Given the description of an element on the screen output the (x, y) to click on. 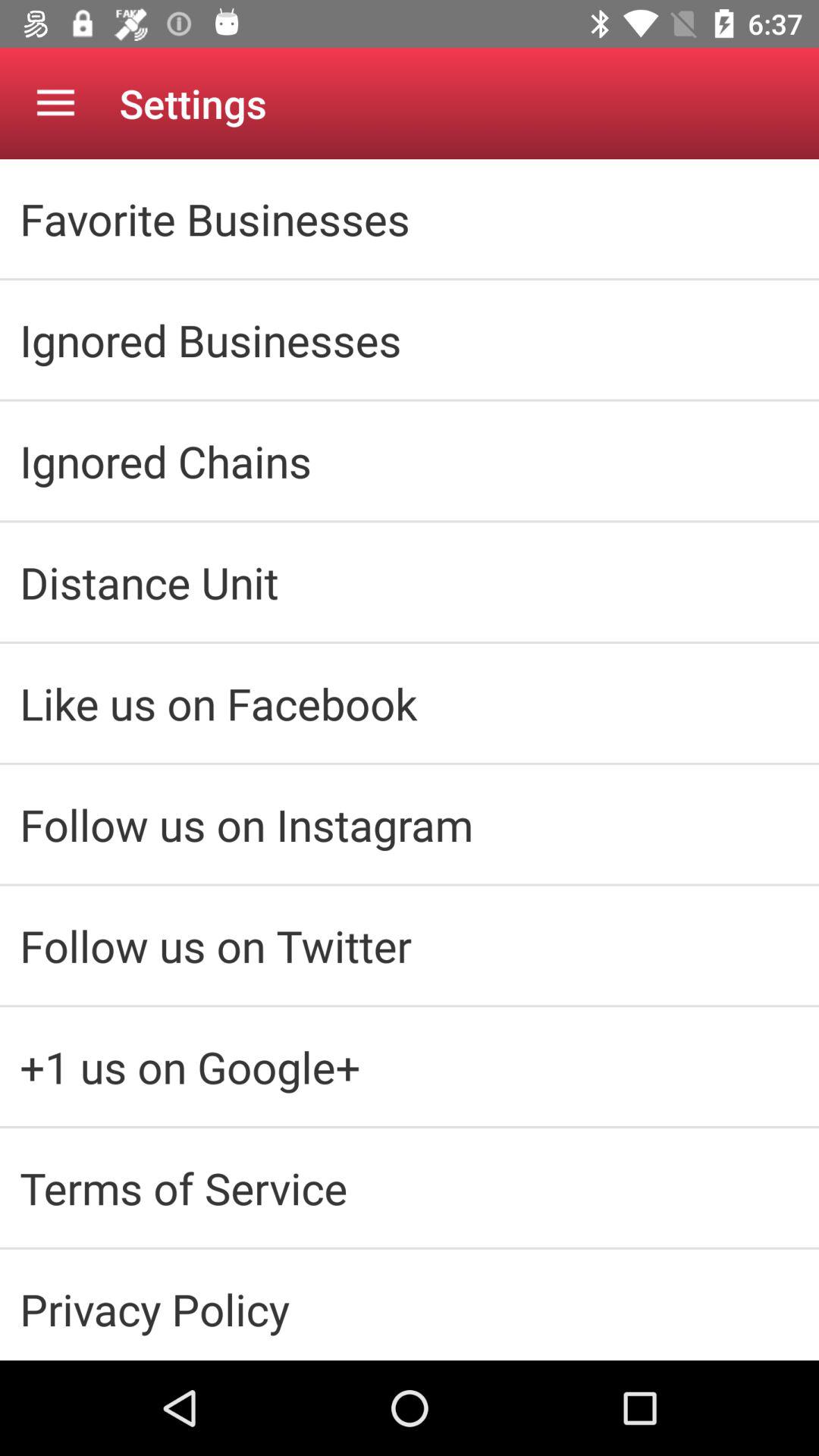
scroll until the ignored businesses item (409, 339)
